Given the description of an element on the screen output the (x, y) to click on. 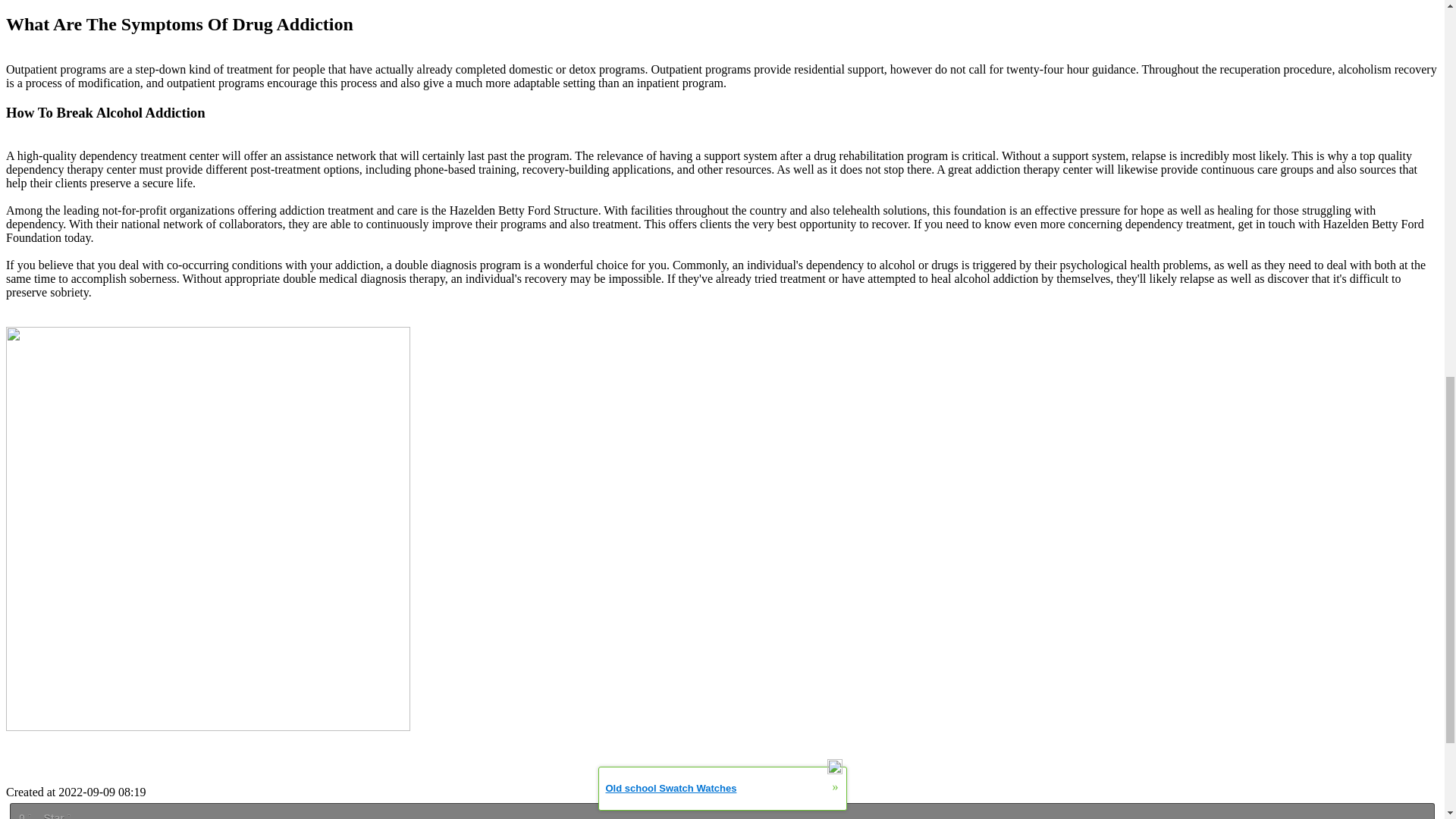
0 (24, 814)
Star (56, 814)
